Given the description of an element on the screen output the (x, y) to click on. 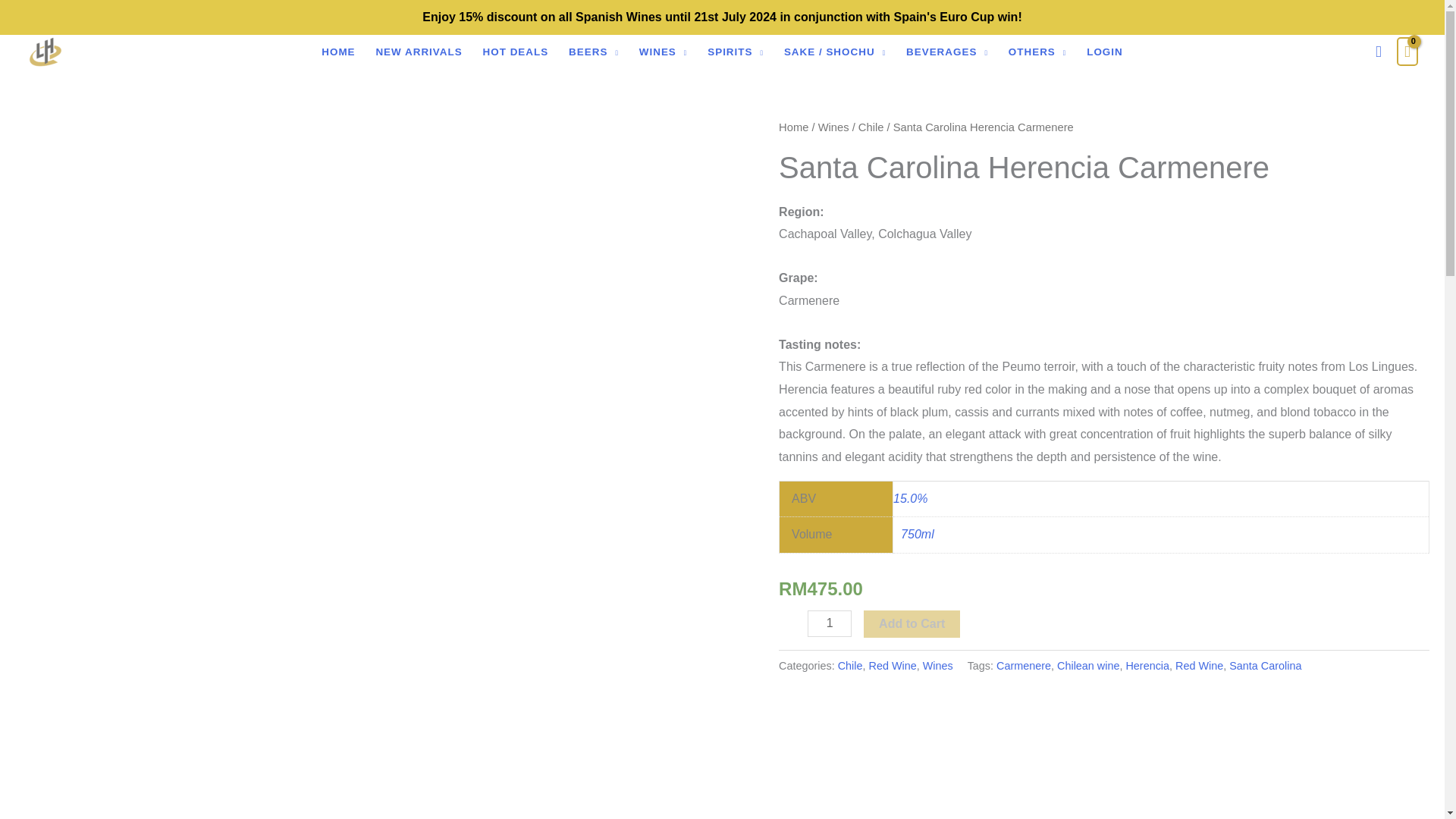
HOT DEALS (515, 51)
1 (829, 623)
NEW ARRIVALS (418, 51)
WINES (662, 51)
BEERS (593, 51)
HOME (338, 51)
